Given the description of an element on the screen output the (x, y) to click on. 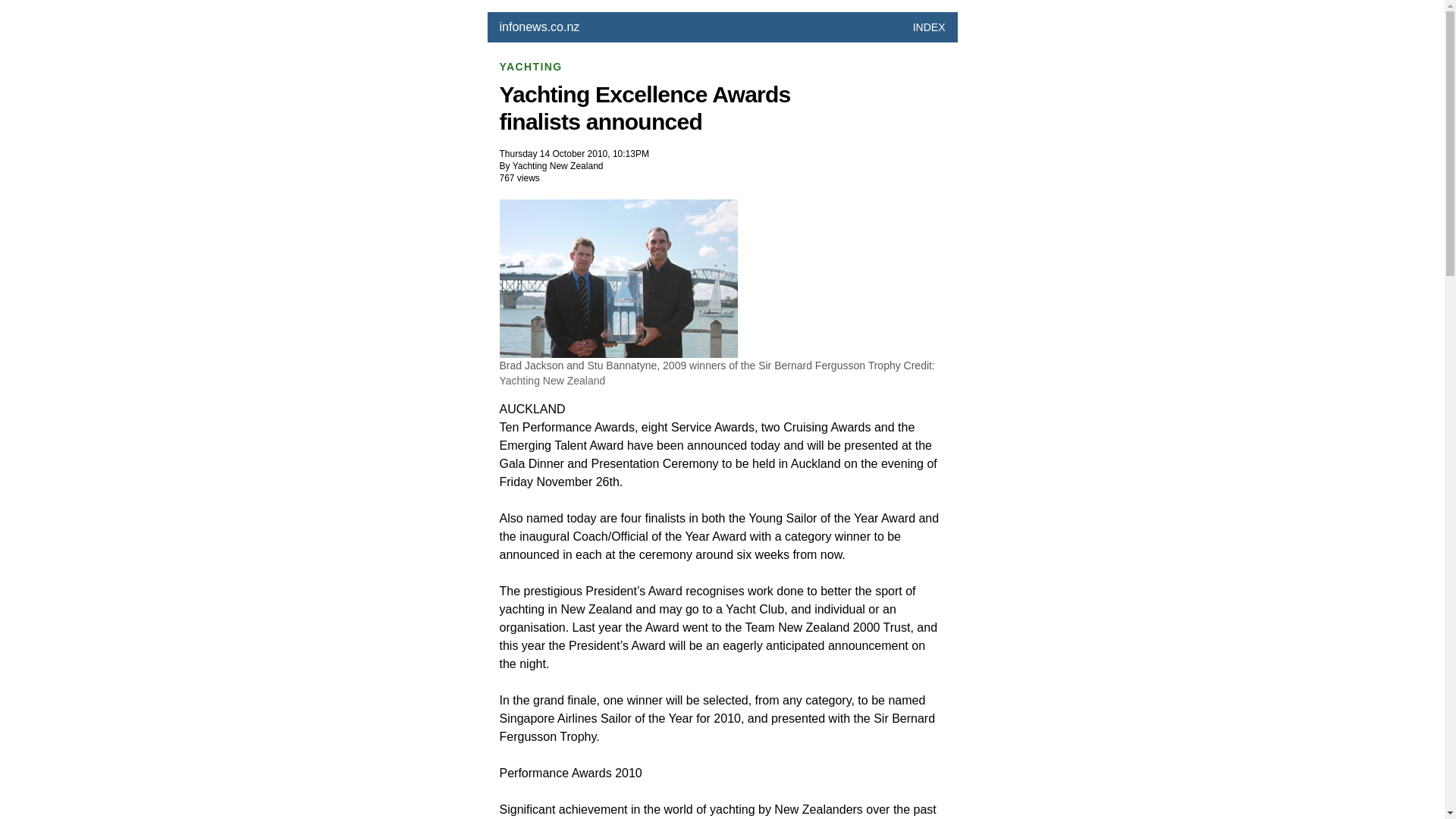
infonews.co.nz (539, 26)
INDEX (928, 27)
Yachting New Zealand (552, 380)
YACHTING (530, 66)
AUCKLAND (531, 408)
Yachting New Zealand (558, 165)
